Given the description of an element on the screen output the (x, y) to click on. 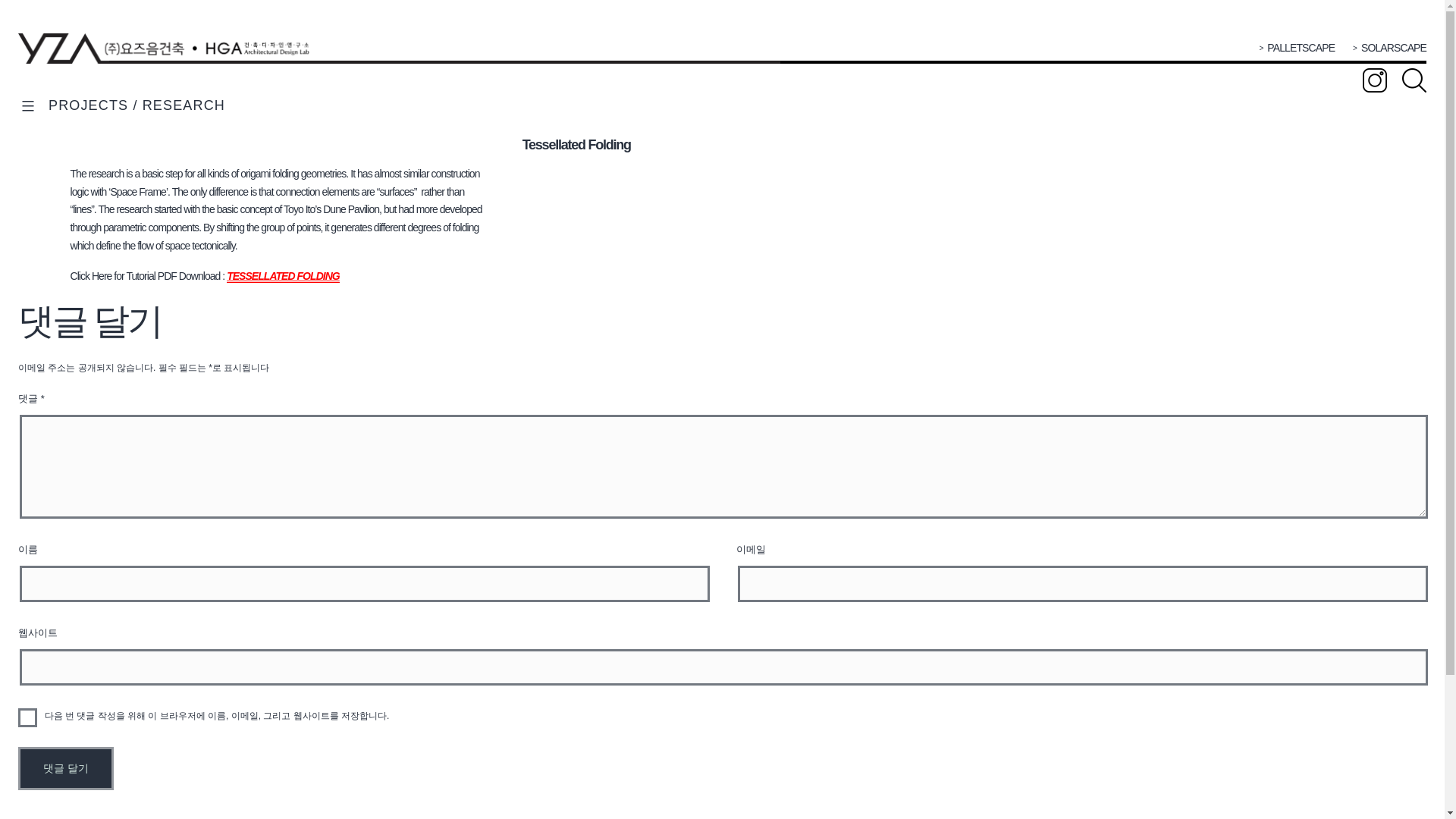
yes (27, 717)
TESSELLATED FOLDING (283, 275)
RESEARCH (183, 105)
